Given the description of an element on the screen output the (x, y) to click on. 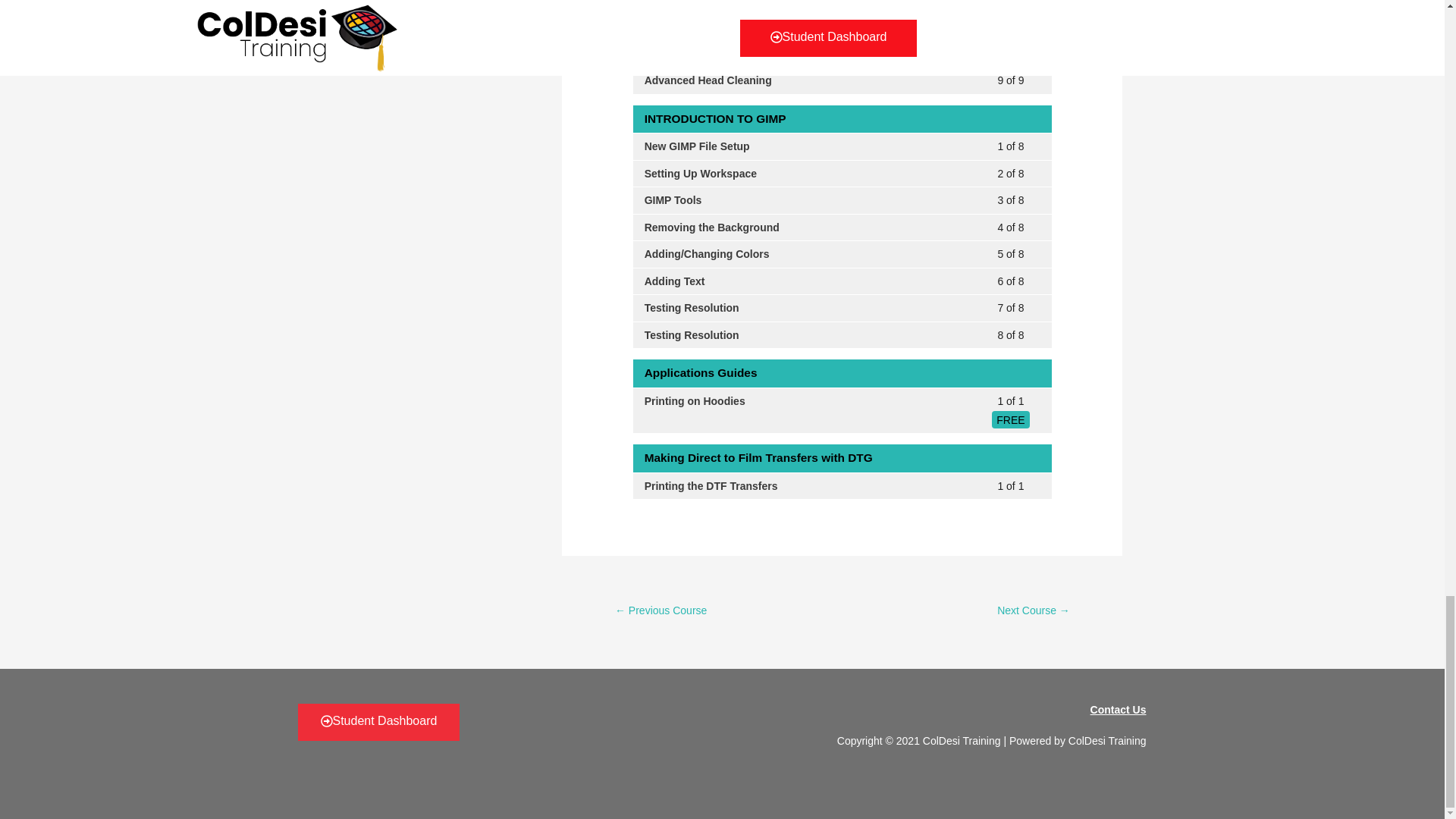
Mutoh ValueJet 426UF (1033, 611)
DTG G4 Training Course with RIP Lite Software (660, 611)
